Given the description of an element on the screen output the (x, y) to click on. 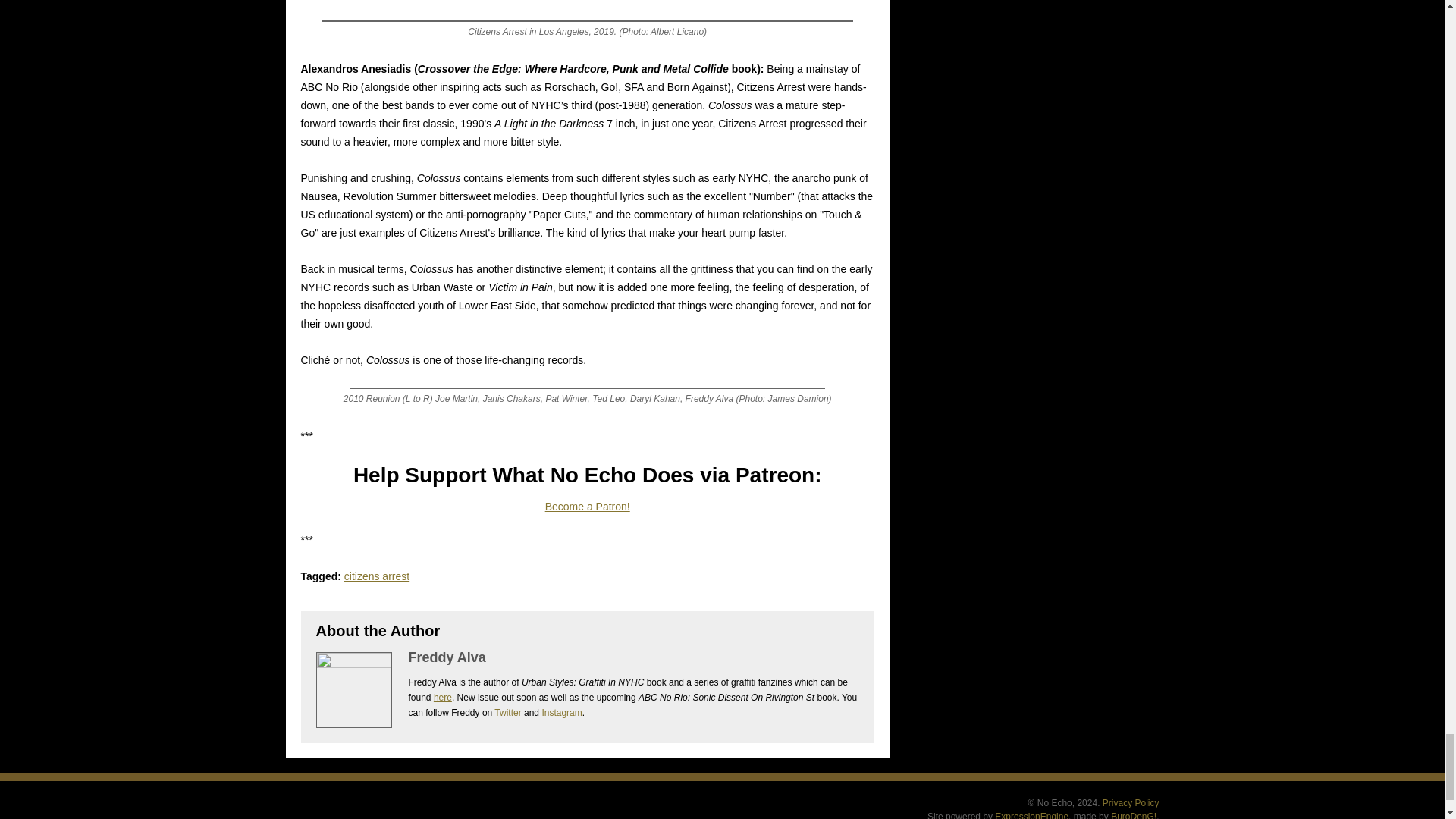
Instagram (560, 712)
Become a Patron! (587, 506)
Twitter (508, 712)
citizens arrest (376, 576)
here (442, 697)
